Given the description of an element on the screen output the (x, y) to click on. 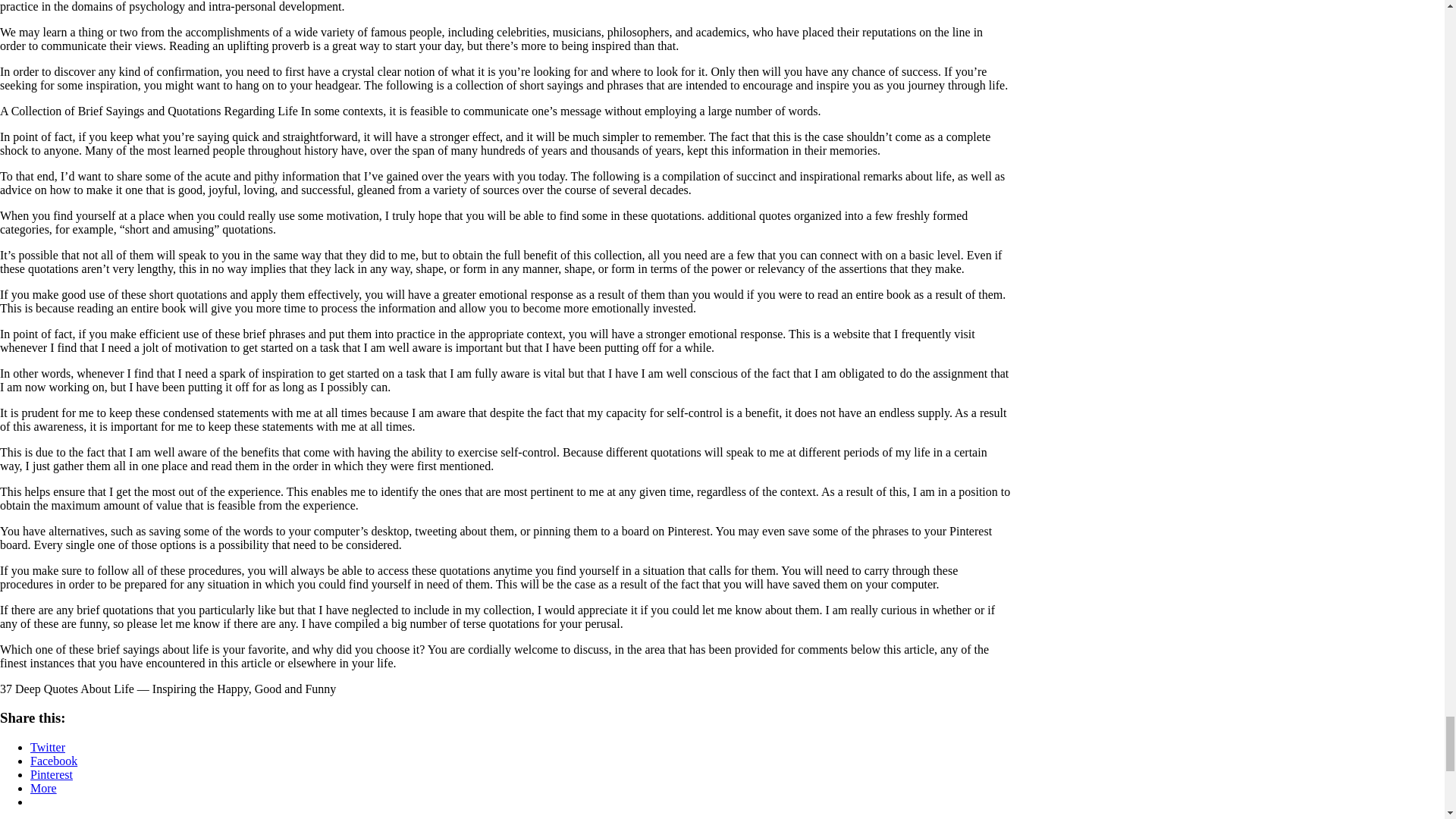
Click to share on Facebook (53, 760)
More (43, 788)
Pinterest (51, 774)
Facebook (53, 760)
Click to share on Pinterest (51, 774)
Click to share on Twitter (47, 747)
Twitter (47, 747)
